Given the description of an element on the screen output the (x, y) to click on. 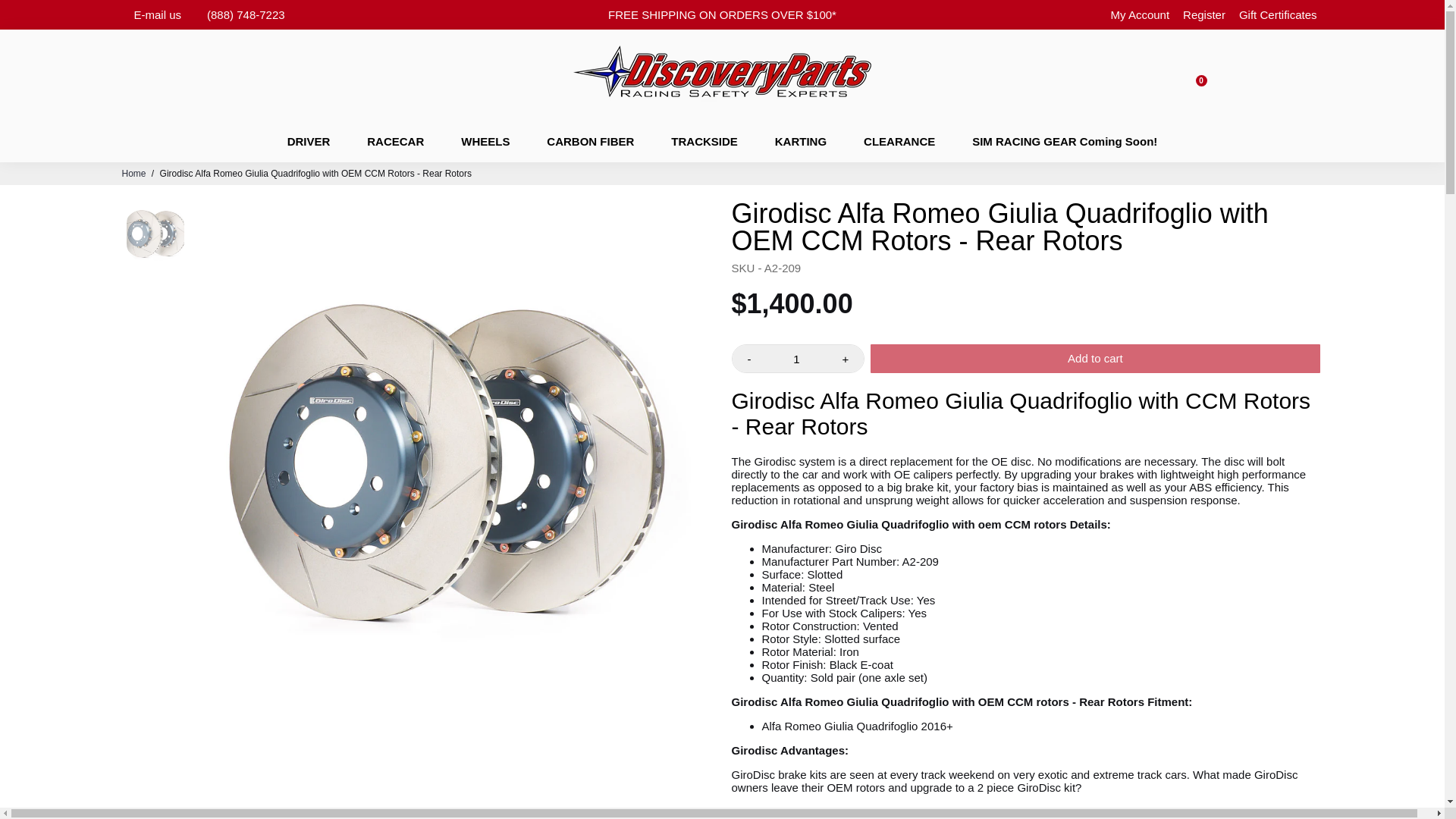
DRIVER (309, 140)
My Account (1140, 14)
Register (1203, 14)
Home (132, 173)
E-mail us (156, 14)
Gift Certificates (1278, 14)
1 (796, 357)
